Given the description of an element on the screen output the (x, y) to click on. 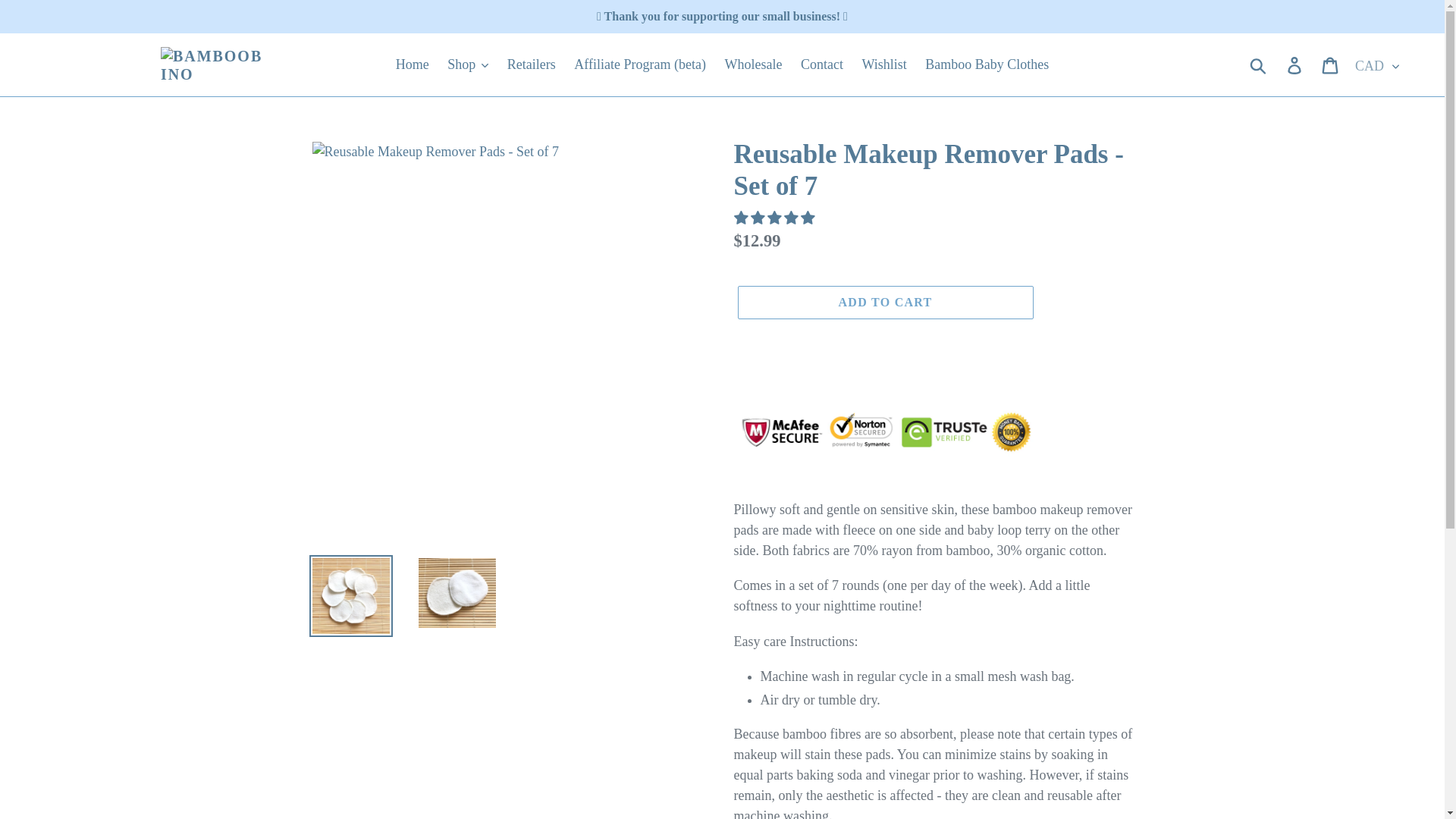
Retailers (531, 64)
Log in (1295, 64)
Wishlist (883, 64)
Cart (1331, 64)
Home (412, 64)
Bamboo Baby Clothes (987, 64)
Submit (1259, 64)
Contact (821, 64)
Wholesale (752, 64)
